Given the description of an element on the screen output the (x, y) to click on. 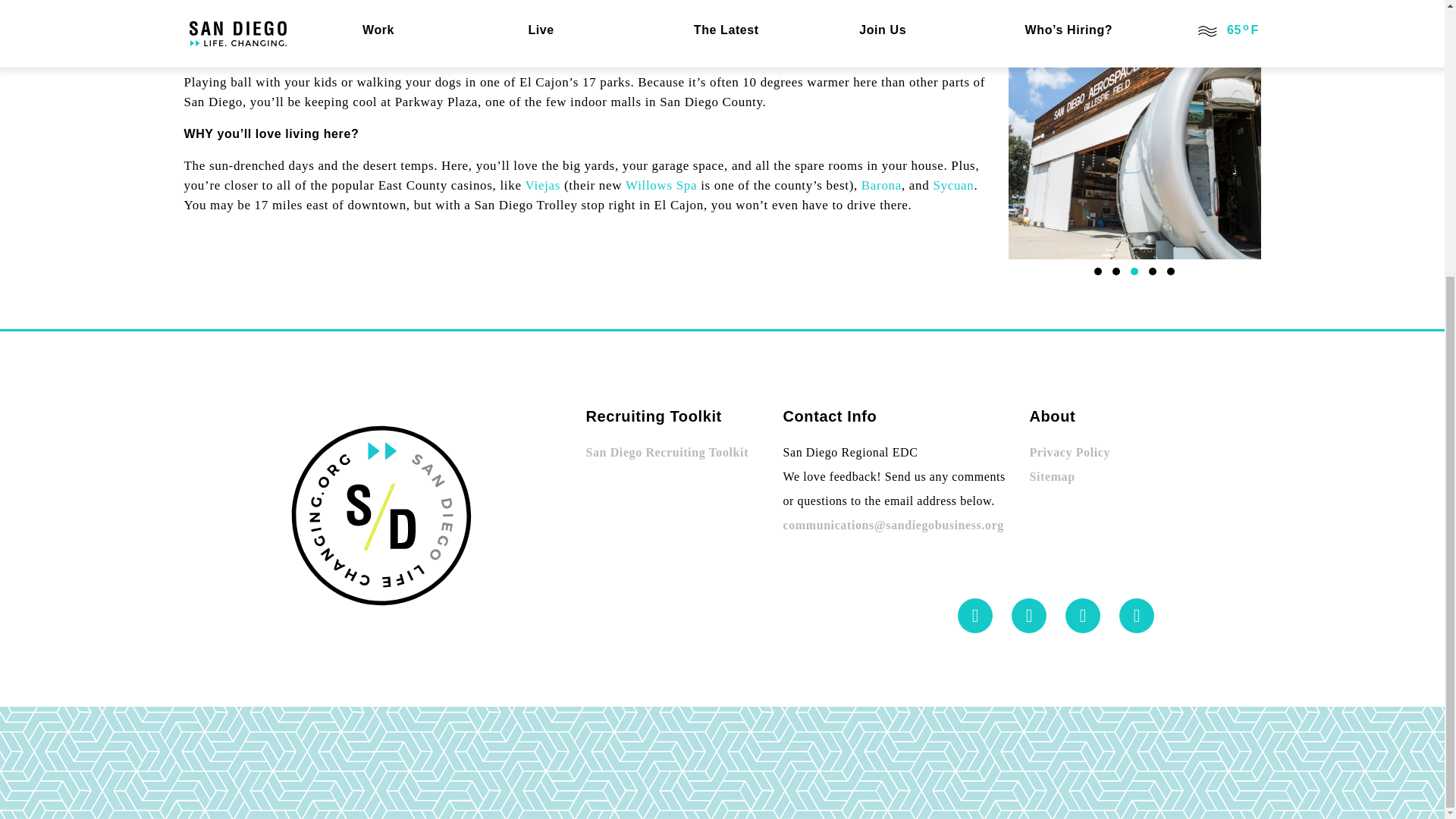
Viejas (542, 185)
URBN Pizza (459, 18)
Sycuan (953, 185)
Al Azayem (667, 2)
Willows Spa (661, 185)
Ali Baba (602, 2)
Nahrain Fish and Chicken Grill (819, 2)
Barona (881, 185)
Creative Creature Brewery (598, 18)
